Given the description of an element on the screen output the (x, y) to click on. 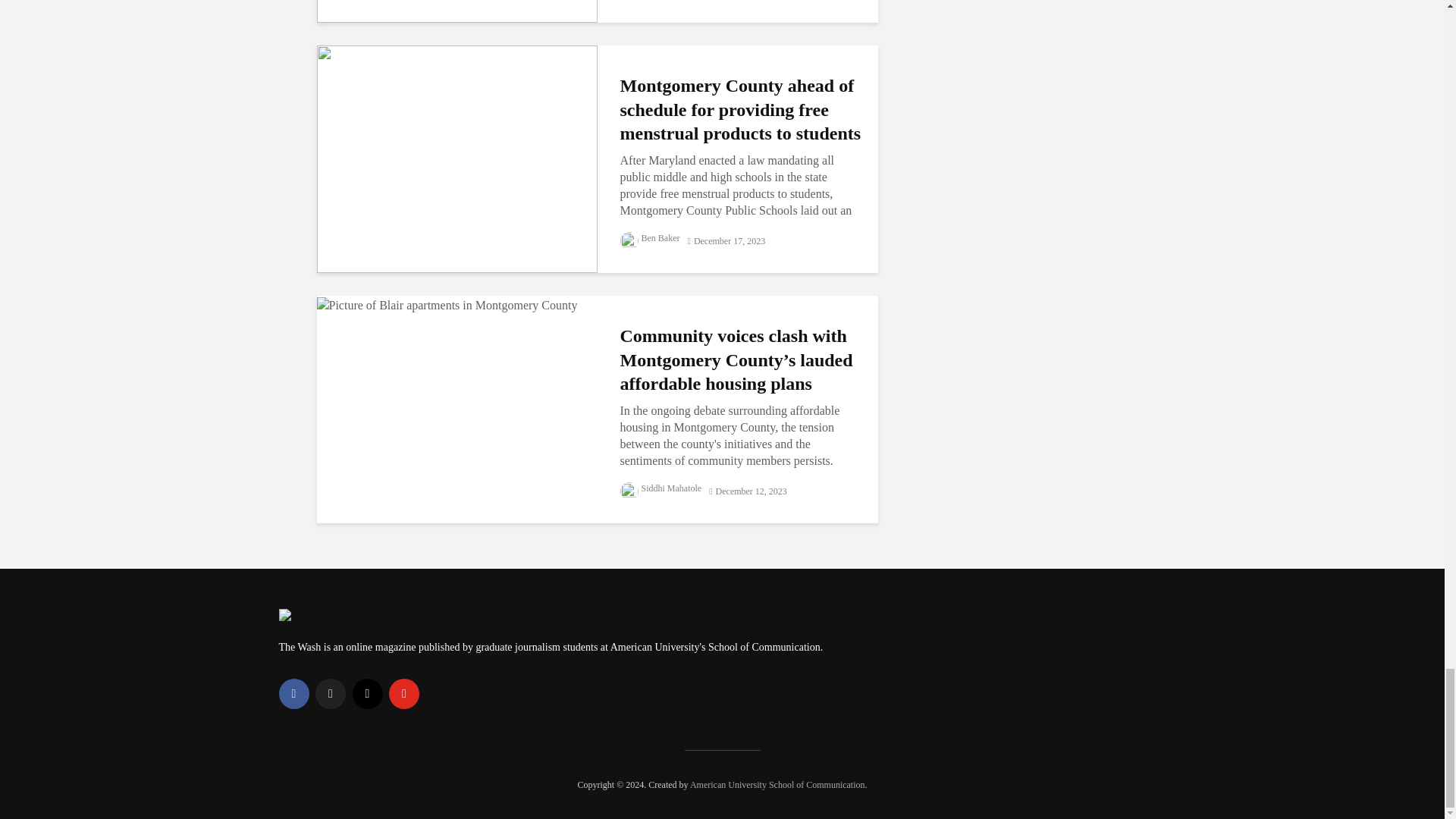
Ben Baker (649, 237)
Facebook (293, 693)
Siddhi Mahatole (660, 488)
